Given the description of an element on the screen output the (x, y) to click on. 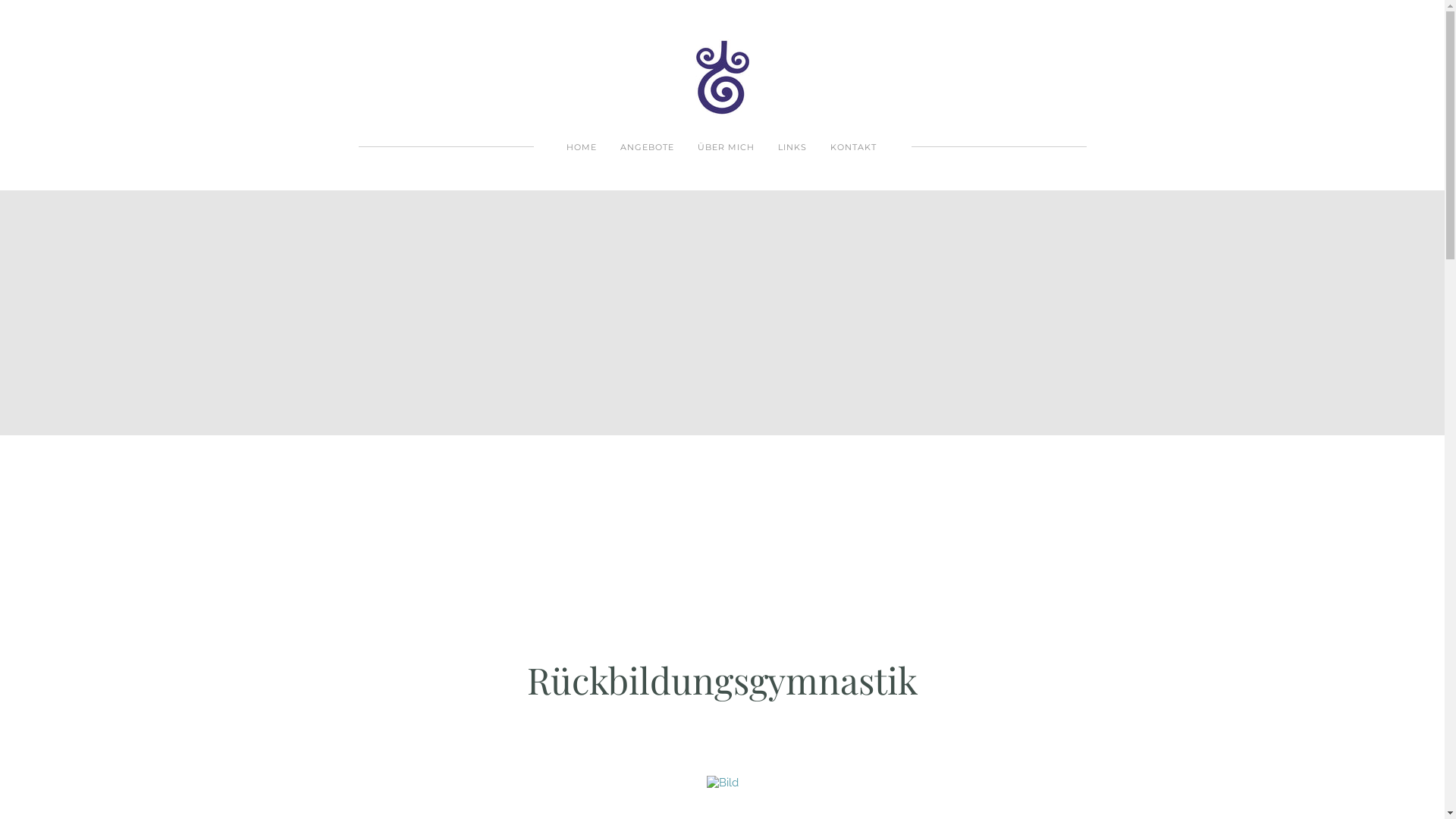
ANGEBOTE Element type: text (646, 147)
LINKS Element type: text (792, 147)
HOME Element type: text (580, 147)
KONTAKT Element type: text (852, 147)
